Given the description of an element on the screen output the (x, y) to click on. 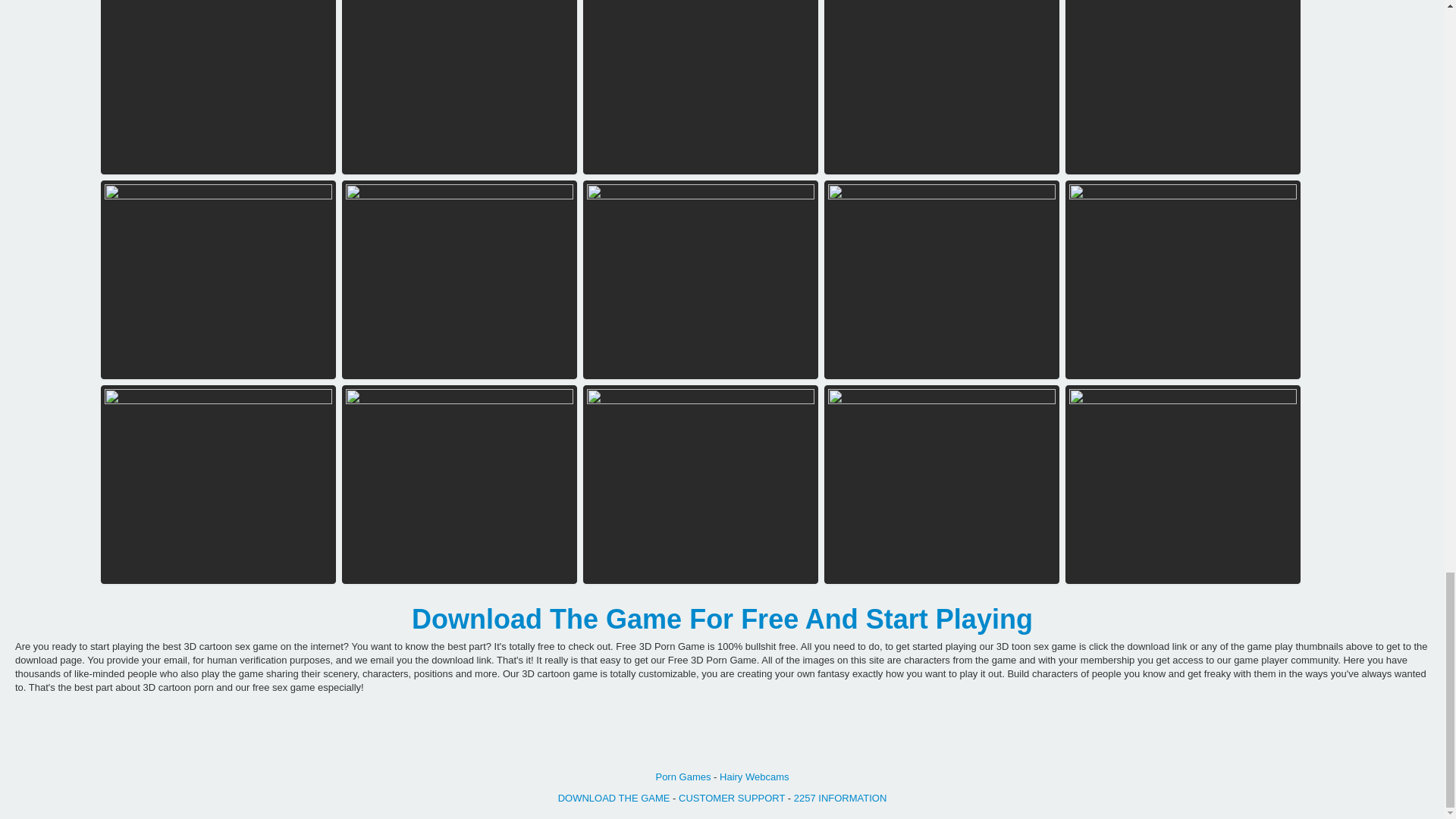
Free Porn Games (682, 776)
Hairy Webcams (754, 776)
